Given the description of an element on the screen output the (x, y) to click on. 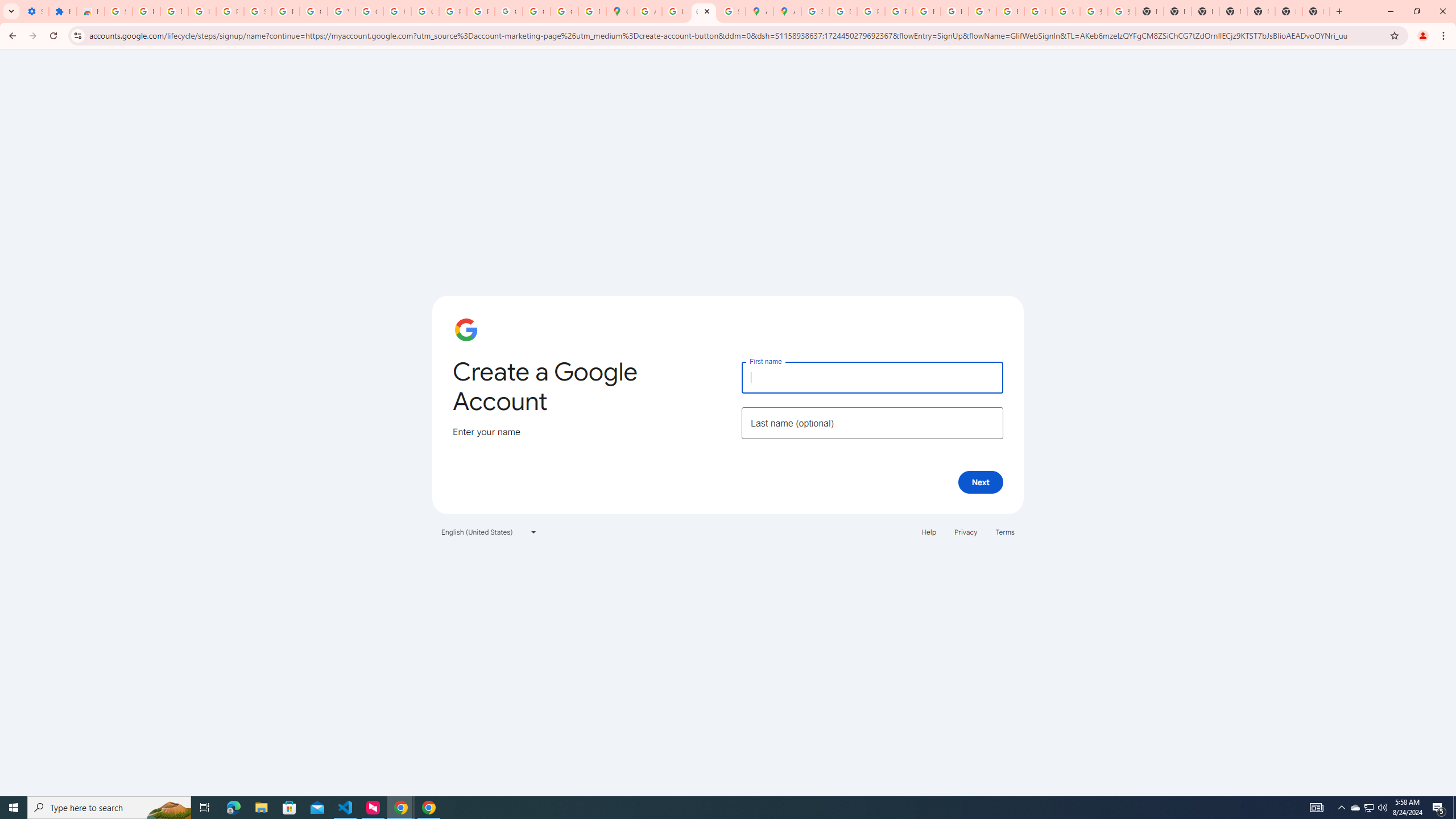
https://scholar.google.com/ (397, 11)
YouTube (341, 11)
